Given the description of an element on the screen output the (x, y) to click on. 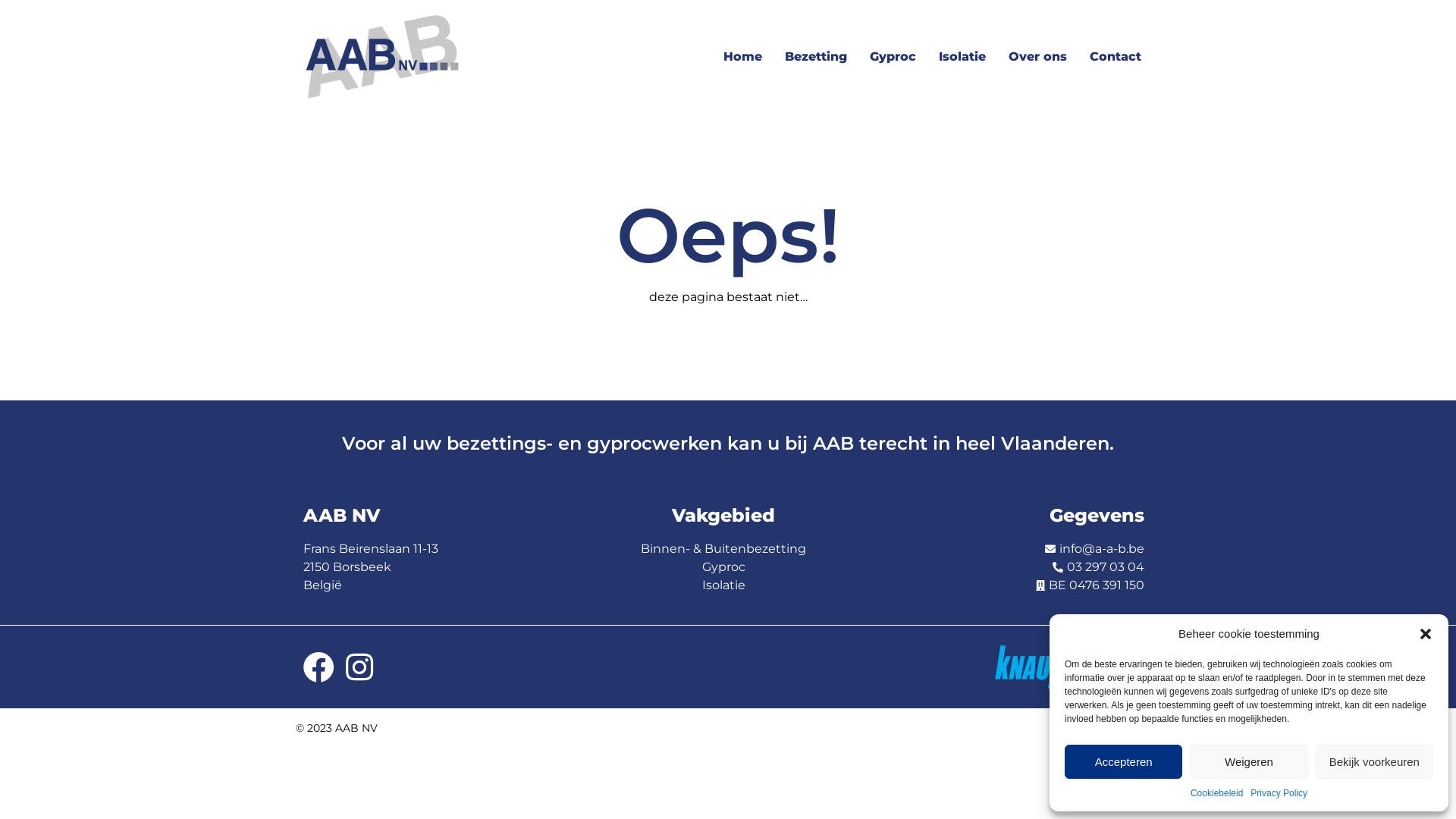
Isolatie Element type: text (962, 56)
Bekijk voorkeuren Element type: text (1374, 761)
Accepteren Element type: text (1123, 761)
Privacy Policy Element type: text (1278, 793)
Weigeren Element type: text (1248, 761)
Bezetting Element type: text (815, 56)
Home Element type: text (742, 56)
Over ons Element type: text (1037, 56)
info@a-a-b.be Element type: text (1008, 548)
Cookiebeleid Element type: text (1216, 793)
Gyproc Element type: text (892, 56)
03 297 03 04 Element type: text (1008, 567)
Binnen- & Buitenbezetting Element type: text (723, 548)
Gyproc Element type: text (723, 566)
Contact Element type: text (1115, 56)
Isolatie Element type: text (723, 584)
